Given the description of an element on the screen output the (x, y) to click on. 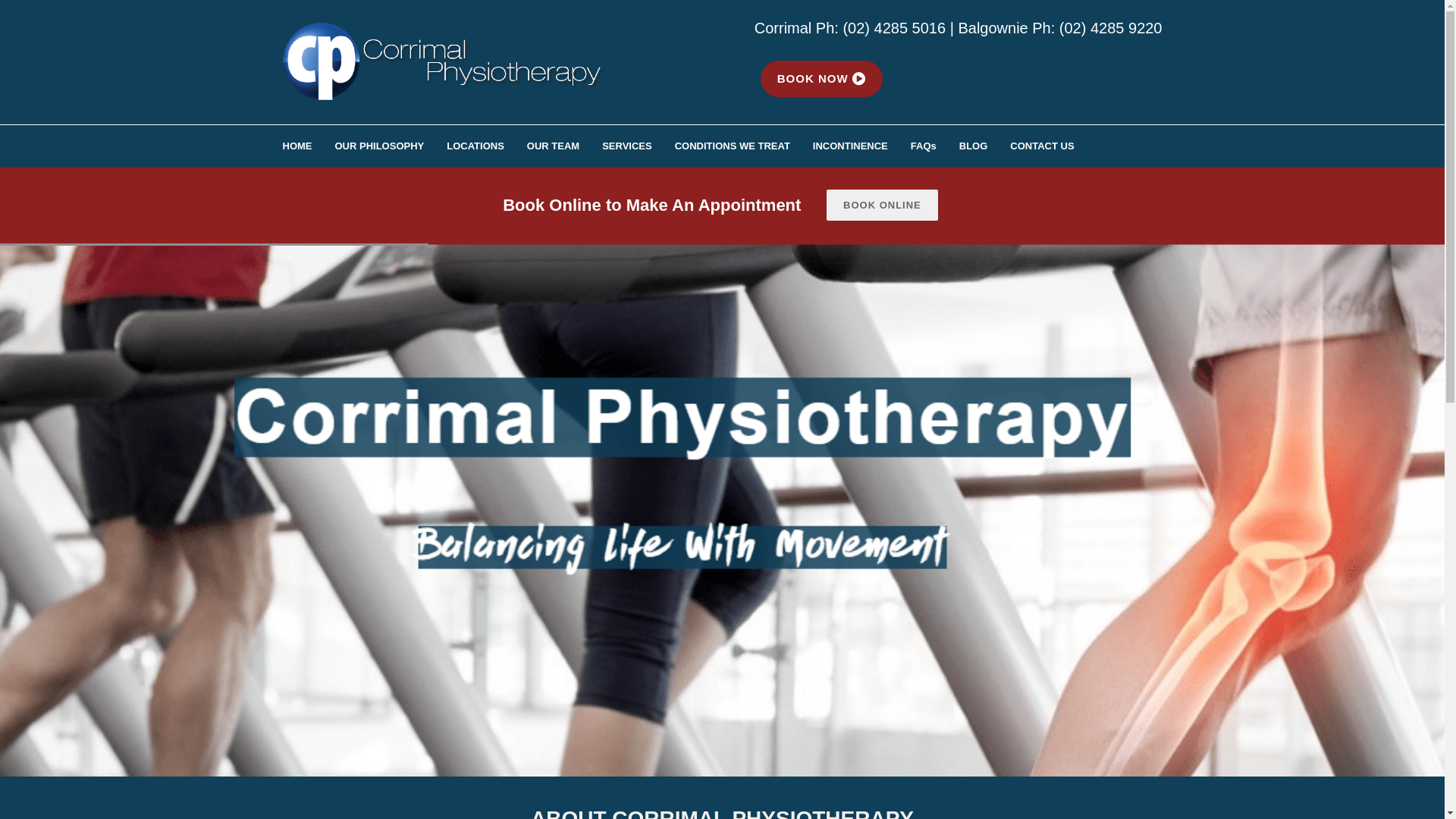
LOCATIONS Element type: text (486, 145)
HOME Element type: text (308, 145)
BOOK NOW Element type: text (821, 78)
OUR PHILOSOPHY Element type: text (391, 145)
BLOG Element type: text (984, 145)
FAQs Element type: text (934, 145)
SERVICES Element type: text (638, 145)
BOOK NOW Element type: text (821, 77)
INCONTINENCE Element type: text (861, 145)
CONTACT US Element type: text (1053, 145)
OUR TEAM Element type: text (564, 145)
BOOK ONLINE Element type: text (882, 204)
CONDITIONS WE TREAT Element type: text (743, 145)
